Given the description of an element on the screen output the (x, y) to click on. 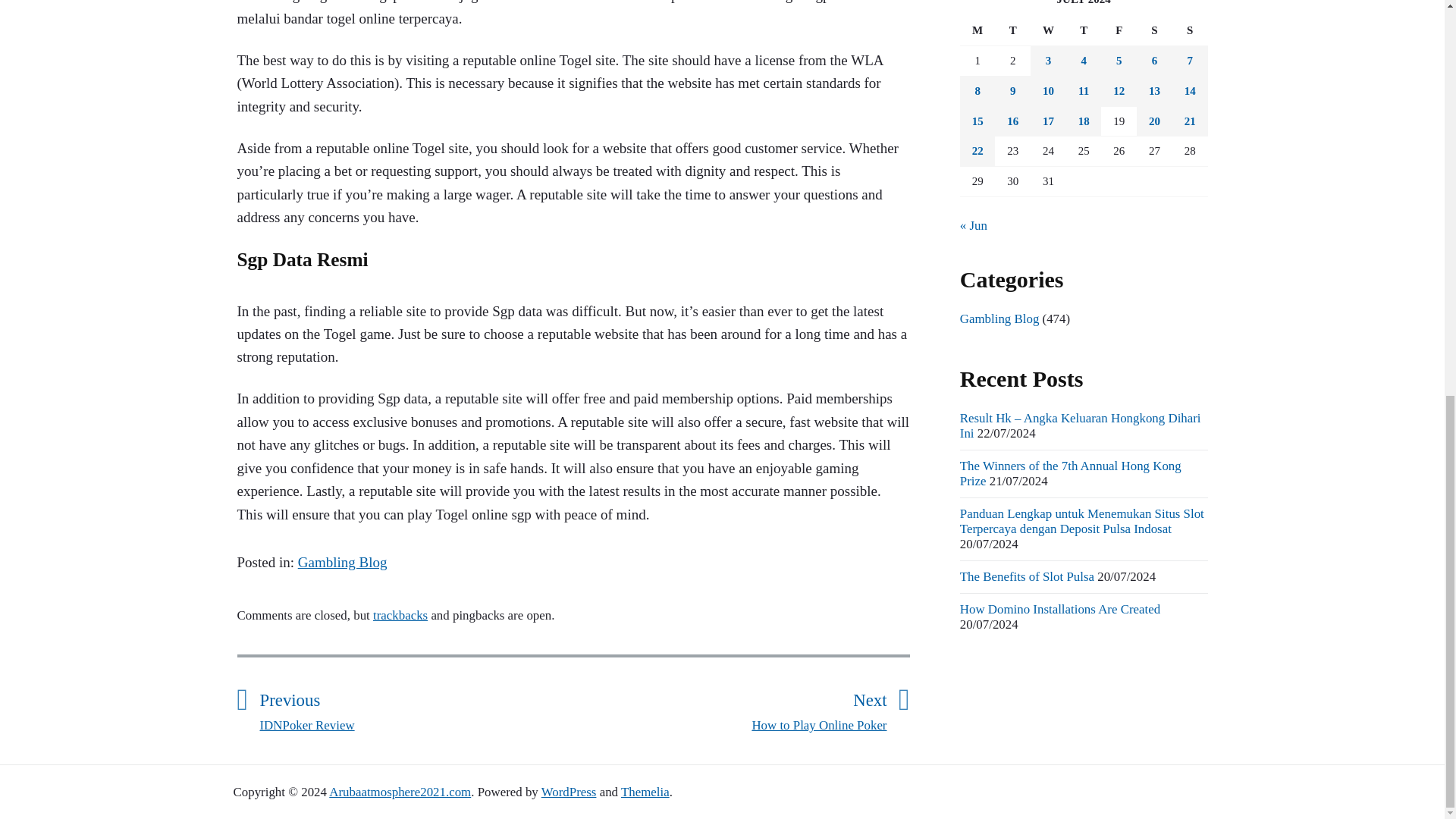
11 (1083, 91)
12 (1118, 91)
7 (1190, 60)
Wednesday (1047, 30)
trackbacks (400, 615)
13 (1154, 91)
4 (1083, 60)
Gambling Blog (342, 562)
Tuesday (1012, 30)
9 (1012, 91)
10 (1047, 91)
3 (1047, 60)
6 (1154, 60)
8 (977, 91)
